Given the description of an element on the screen output the (x, y) to click on. 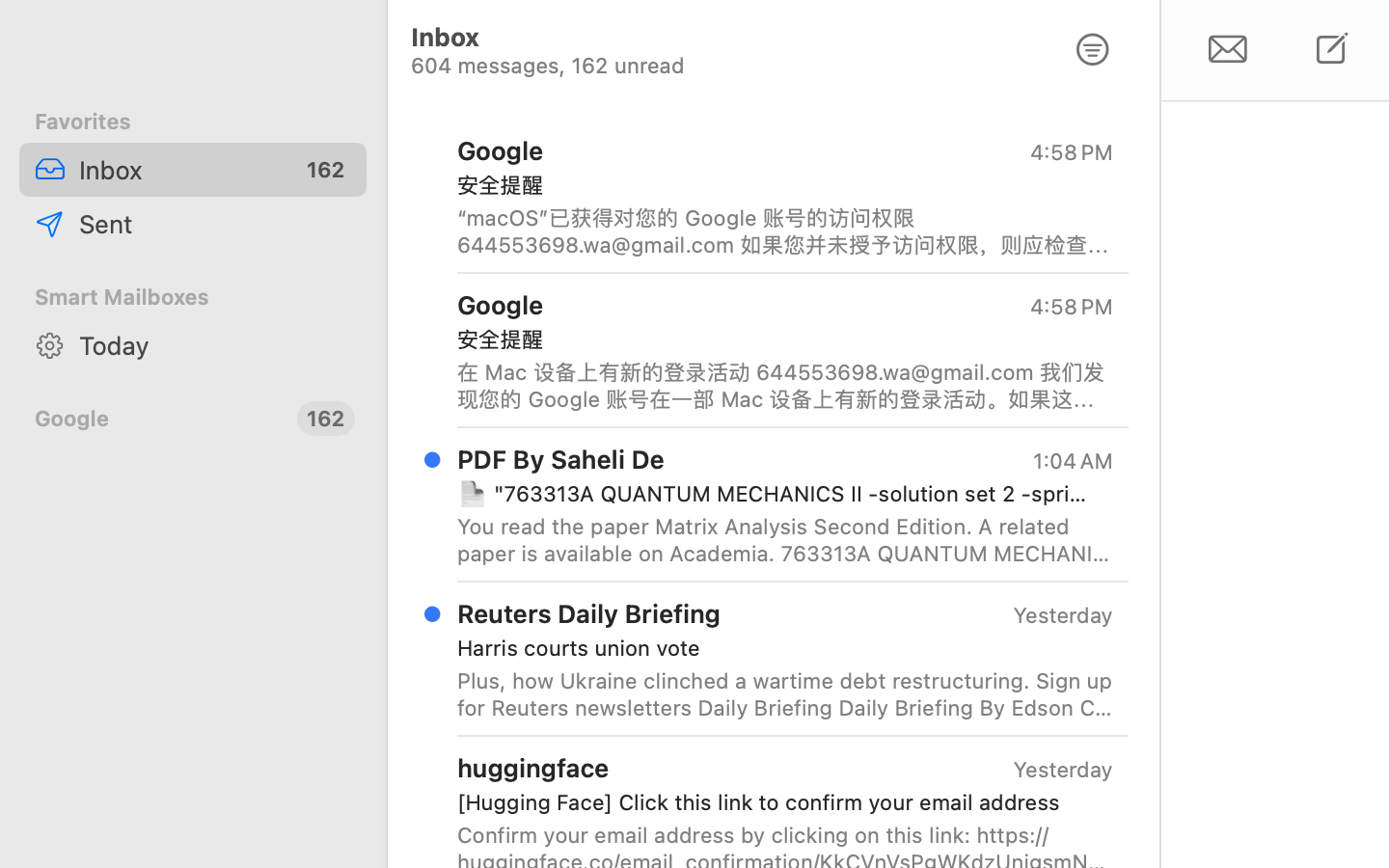
Favorites Element type: AXStaticText (192, 121)
PDF By Saheli De Element type: AXStaticText (561, 458)
📄 "763313A QUANTUM MECHANICS II -solution set 2 -spring 2014" by Saheli De Element type: AXStaticText (777, 493)
[Hugging Face] Click this link to confirm your email address Element type: AXStaticText (777, 801)
Harris courts union vote Element type: AXStaticText (777, 647)
